Given the description of an element on the screen output the (x, y) to click on. 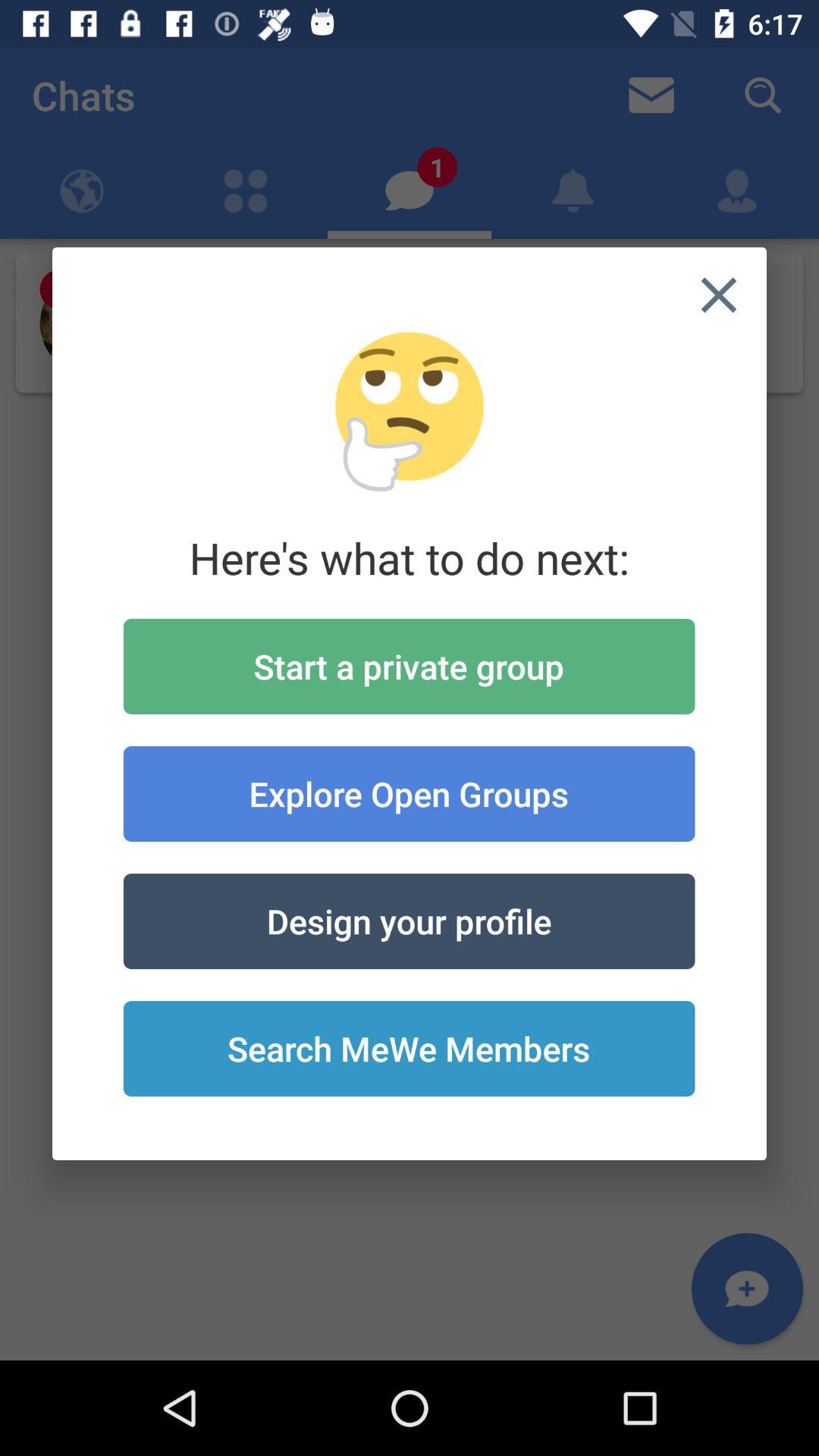
press the icon above the design your profile icon (409, 793)
